Given the description of an element on the screen output the (x, y) to click on. 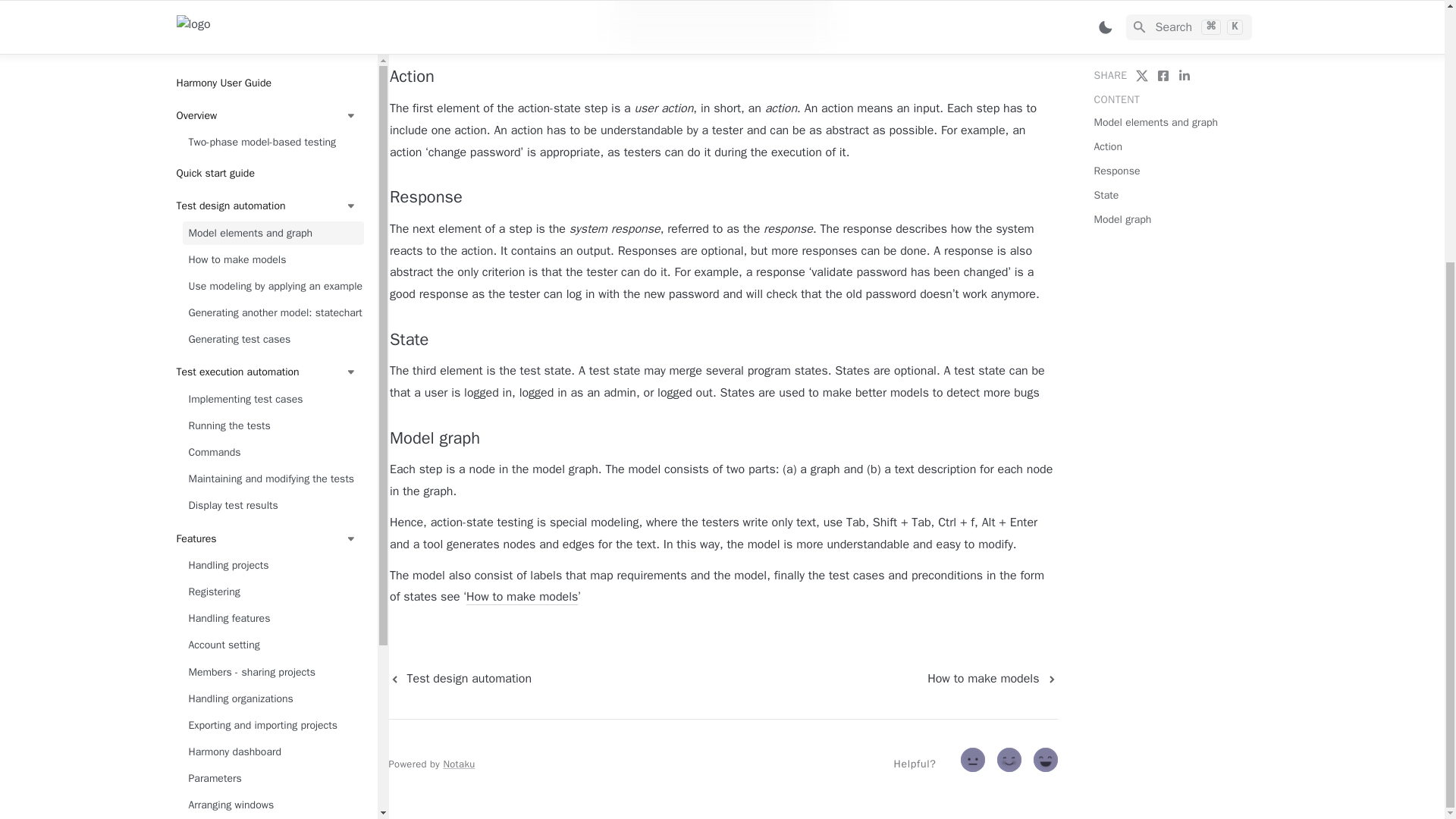
Flaky test (272, 597)
Parameters (272, 401)
Implementing test cases (272, 21)
2 (1047, 762)
Test execution automation (266, 3)
Arranging windows (272, 427)
Display test results (272, 128)
Harmony dashboard (272, 373)
An execution step fails when modifying the test case (272, 563)
Handling organizations (272, 320)
Exporting and importing projects (272, 347)
Handling projects (272, 187)
Commands (272, 74)
The execution step fails because of a faulty validation (272, 521)
Handling features (272, 241)
